Given the description of an element on the screen output the (x, y) to click on. 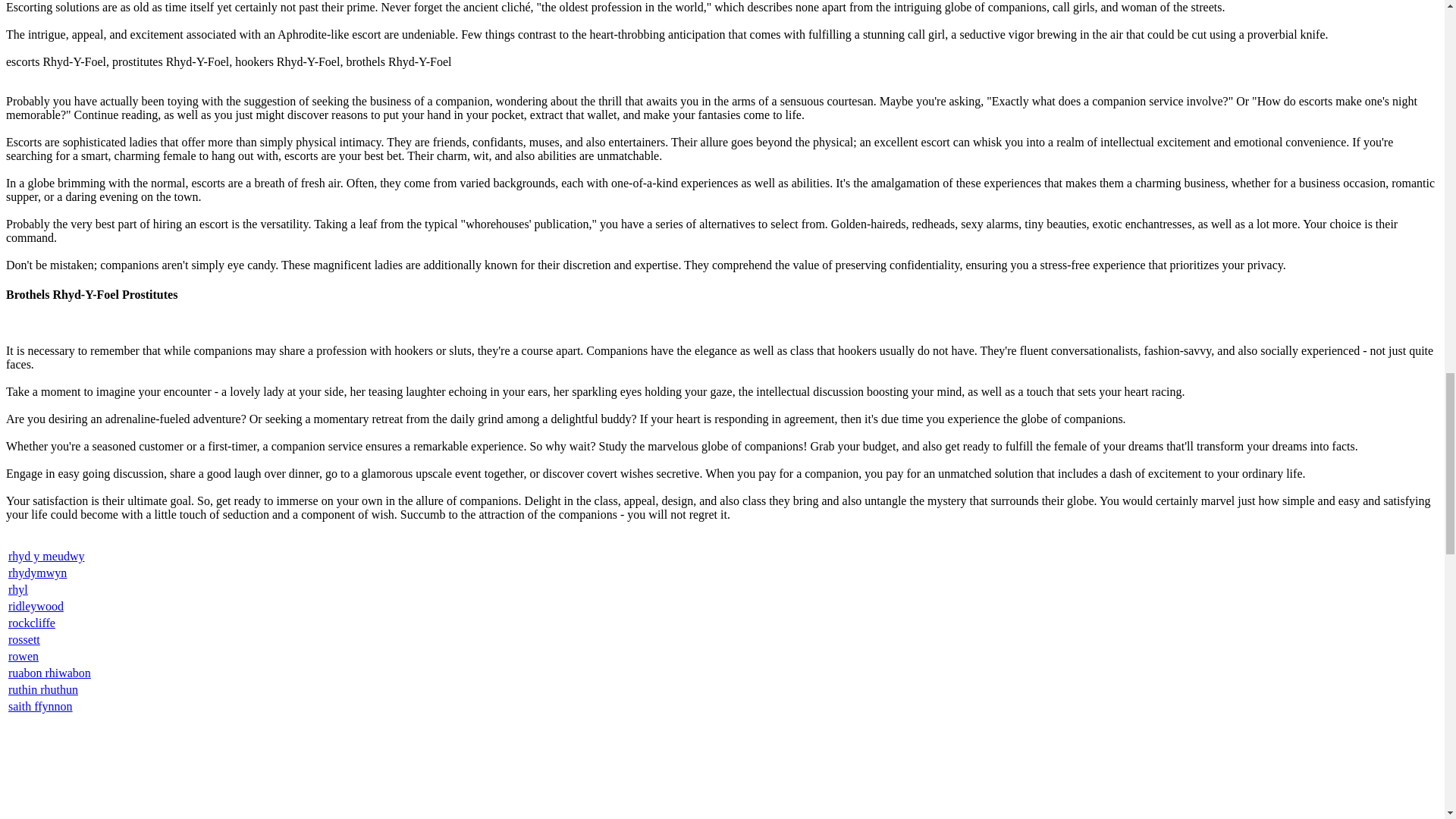
ruabon rhiwabon (49, 672)
rockcliffe (31, 622)
rhyd y meudwy (46, 555)
ridleywood (36, 605)
rossett (24, 639)
rhydymwyn (37, 572)
rhyl (17, 589)
saith ffynnon (40, 706)
ruthin rhuthun (43, 689)
rowen (23, 656)
